Given the description of an element on the screen output the (x, y) to click on. 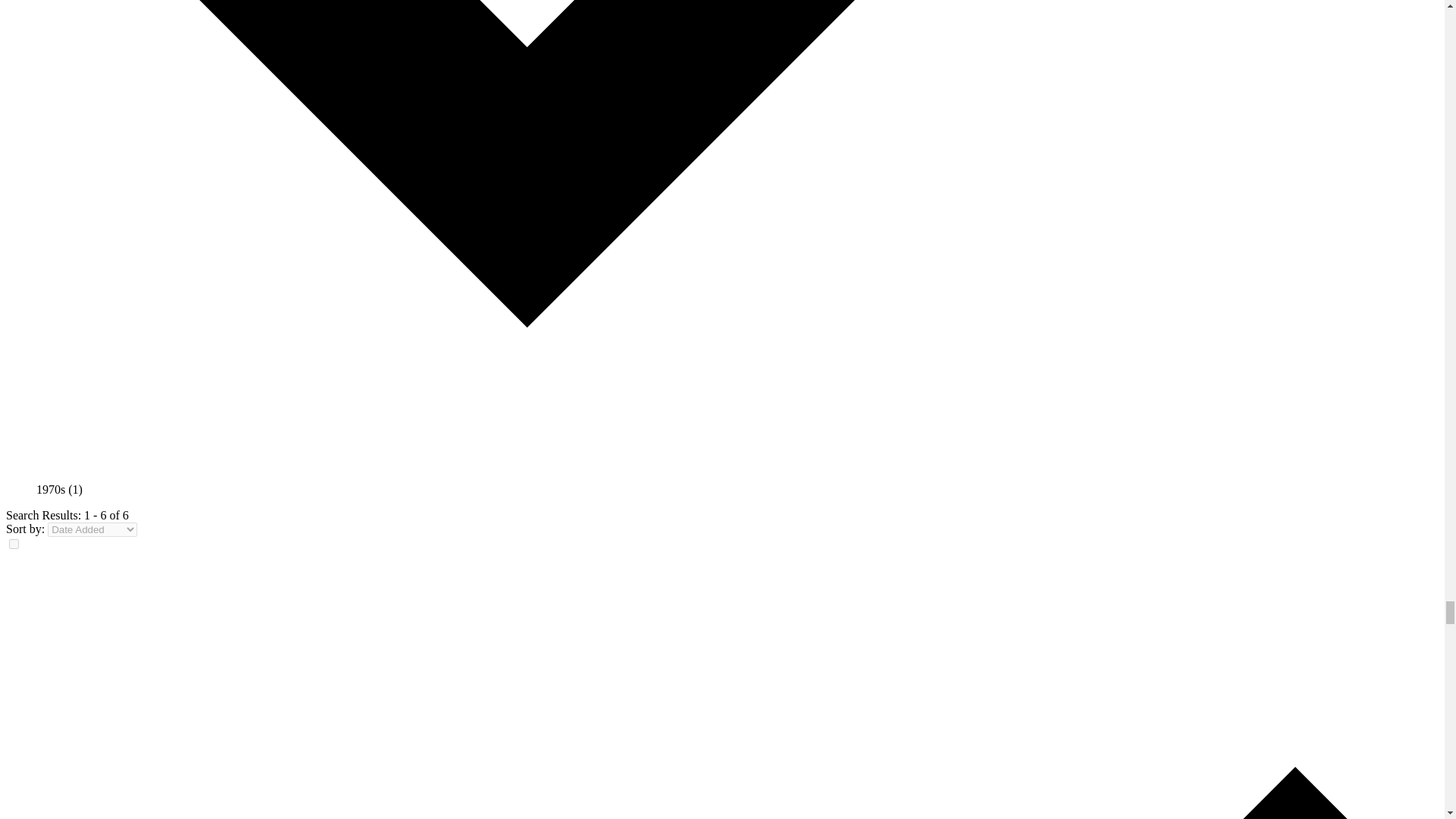
on (13, 543)
